Given the description of an element on the screen output the (x, y) to click on. 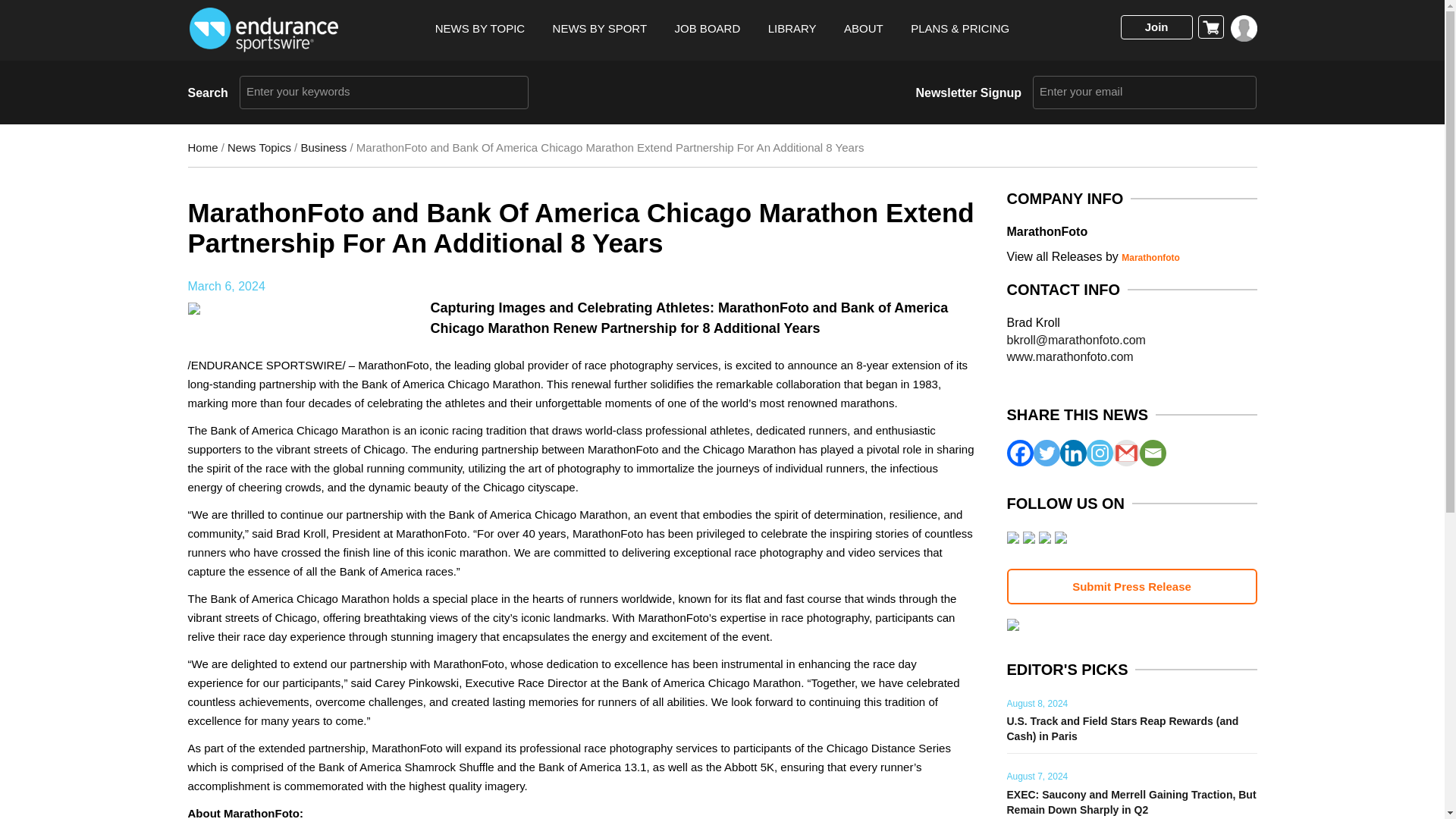
Linkedin (1072, 452)
Google Gmail (1126, 452)
JOB BOARD (708, 28)
Twitter (1045, 452)
ABOUT (863, 28)
NEWS BY SPORT (599, 28)
Join (1156, 27)
NEWS BY TOPIC (479, 28)
Email (1152, 452)
Posts by Marathonfoto (1150, 257)
